Given the description of an element on the screen output the (x, y) to click on. 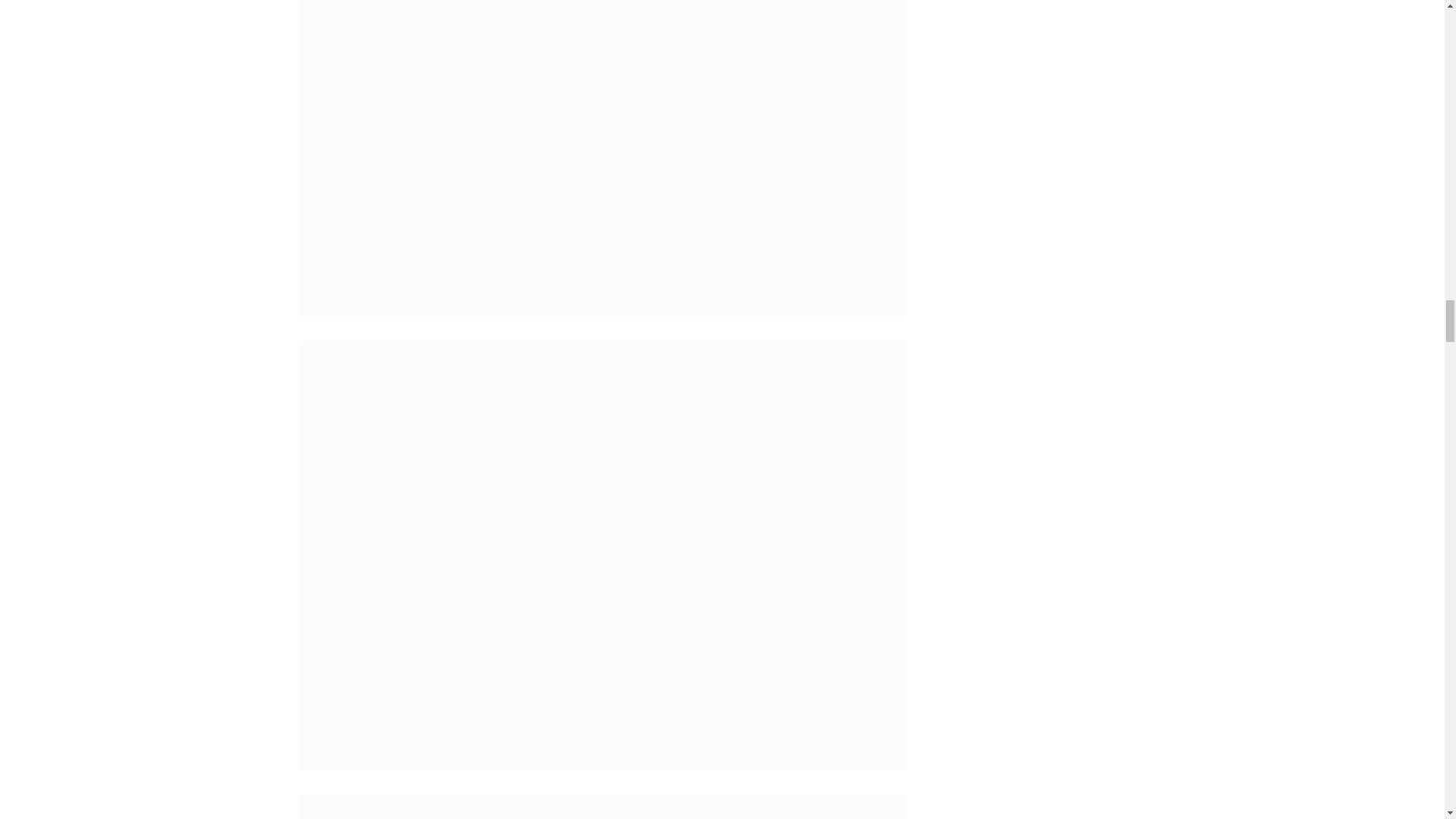
Wengenn preparing a hearty breakfast (600, 807)
